Given the description of an element on the screen output the (x, y) to click on. 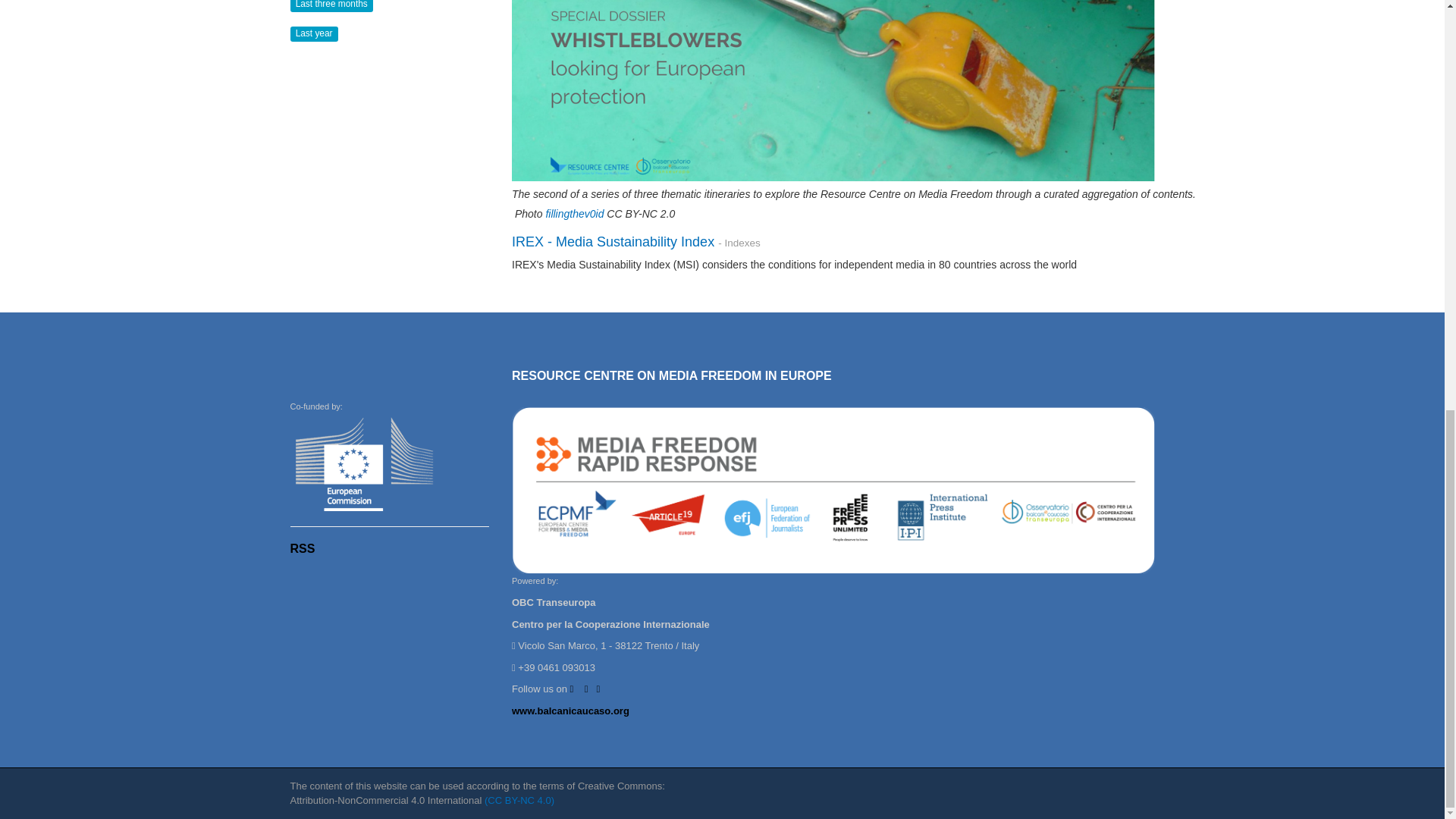
Vai al fotostream di fillingthev0id (574, 214)
Media Freedom Rapid Response Logo (833, 490)
Last three months (330, 4)
Last year (313, 32)
IREX - Media Sustainability Index (613, 241)
